Given the description of an element on the screen output the (x, y) to click on. 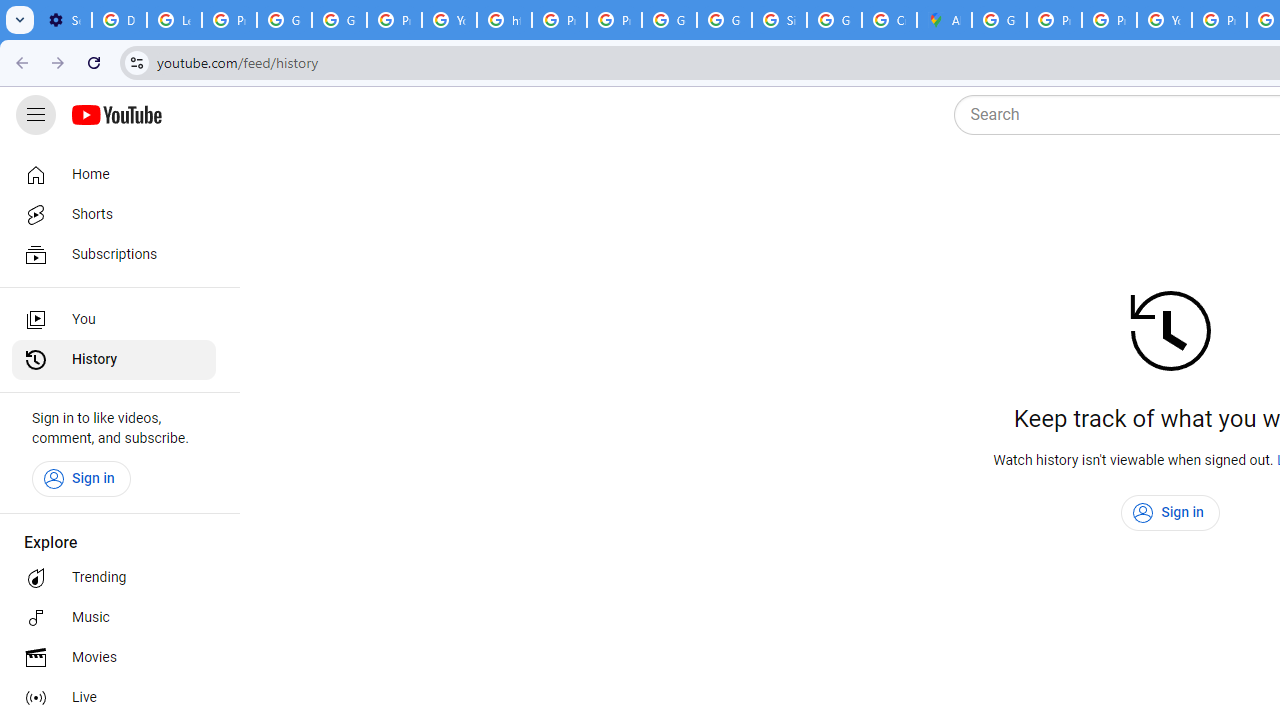
Movies (113, 657)
YouTube Home (116, 115)
Google Account Help (284, 20)
Delete photos & videos - Computer - Google Photos Help (119, 20)
Settings - On startup (64, 20)
Music (113, 617)
Privacy Help Center - Policies Help (559, 20)
https://scholar.google.com/ (504, 20)
Guide (35, 115)
